Given the description of an element on the screen output the (x, y) to click on. 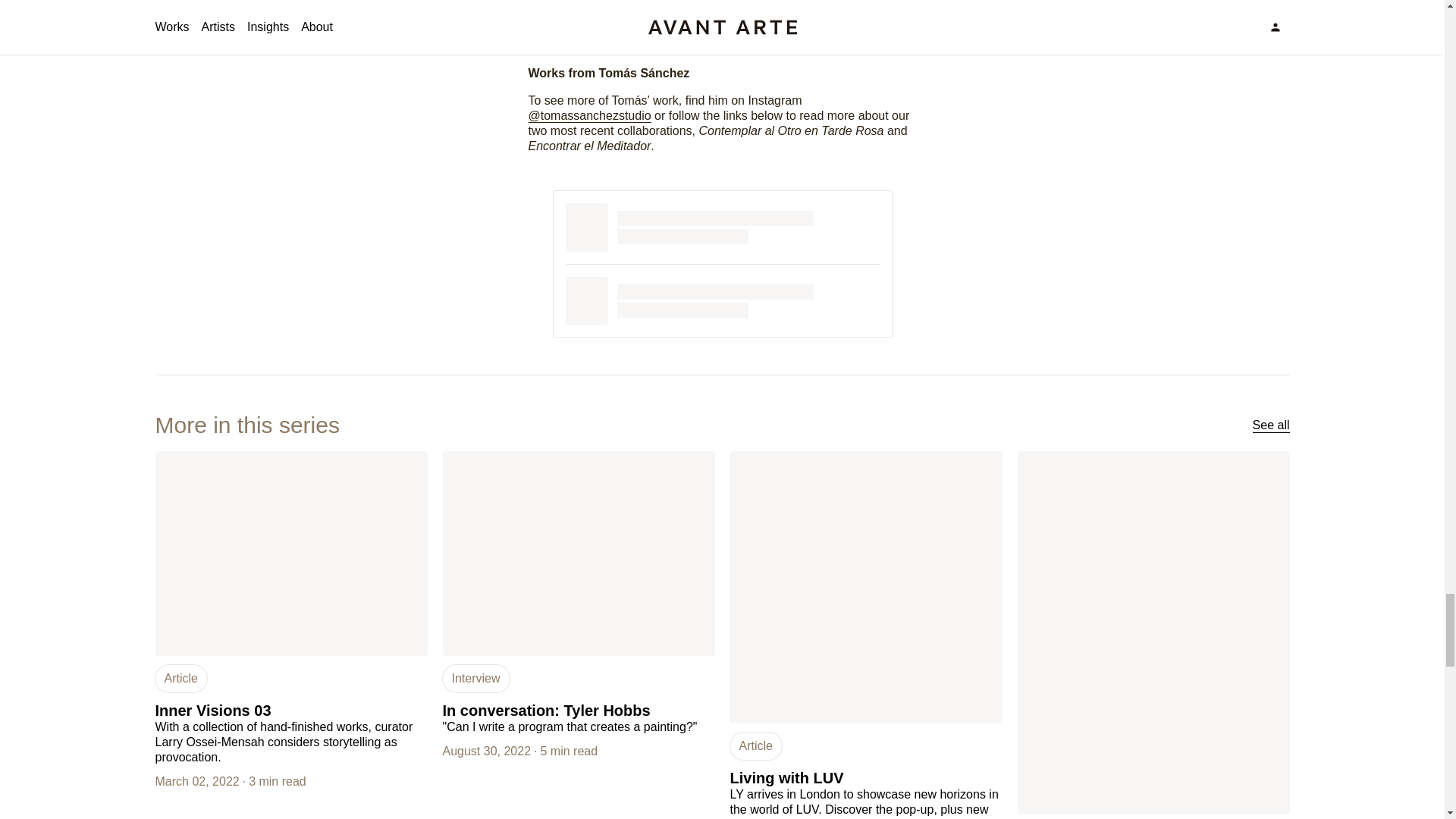
See all (1271, 425)
LUV skating past four red phone boxes (865, 587)
Tyler Hobbs leaning down to write on a work surface (578, 553)
